Given the description of an element on the screen output the (x, y) to click on. 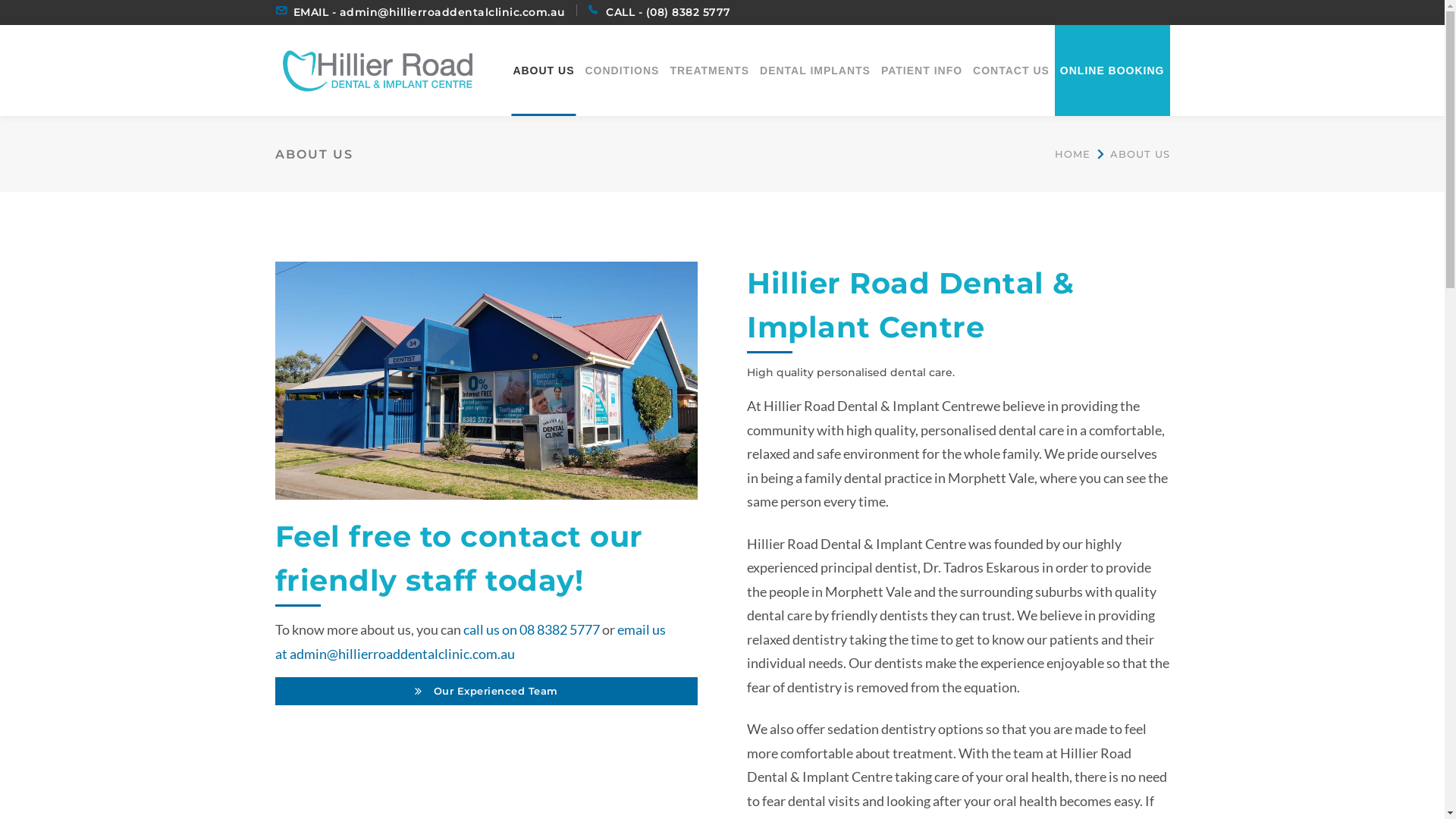
PATIENT INFO Element type: text (921, 70)
CALL - (08) 8382 5777 Element type: text (668, 11)
HOME Element type: text (1071, 154)
ONLINE BOOKING Element type: text (1112, 70)
ABOUT US Element type: text (543, 70)
DENTAL IMPLANTS Element type: text (815, 70)
CONDITIONS Element type: text (622, 70)
Our Experienced Team Element type: text (485, 691)
Hillier Road Dental & Implant Centre Element type: hover (376, 67)
email us at admin@hillierroaddentalclinic.com.au Element type: text (469, 641)
CONTACT US Element type: text (1011, 70)
call us on 08 8382 5777 Element type: text (530, 629)
TREATMENTS Element type: text (709, 70)
EMAIL - admin@hillierroaddentalclinic.com.au Element type: text (428, 11)
